Given the description of an element on the screen output the (x, y) to click on. 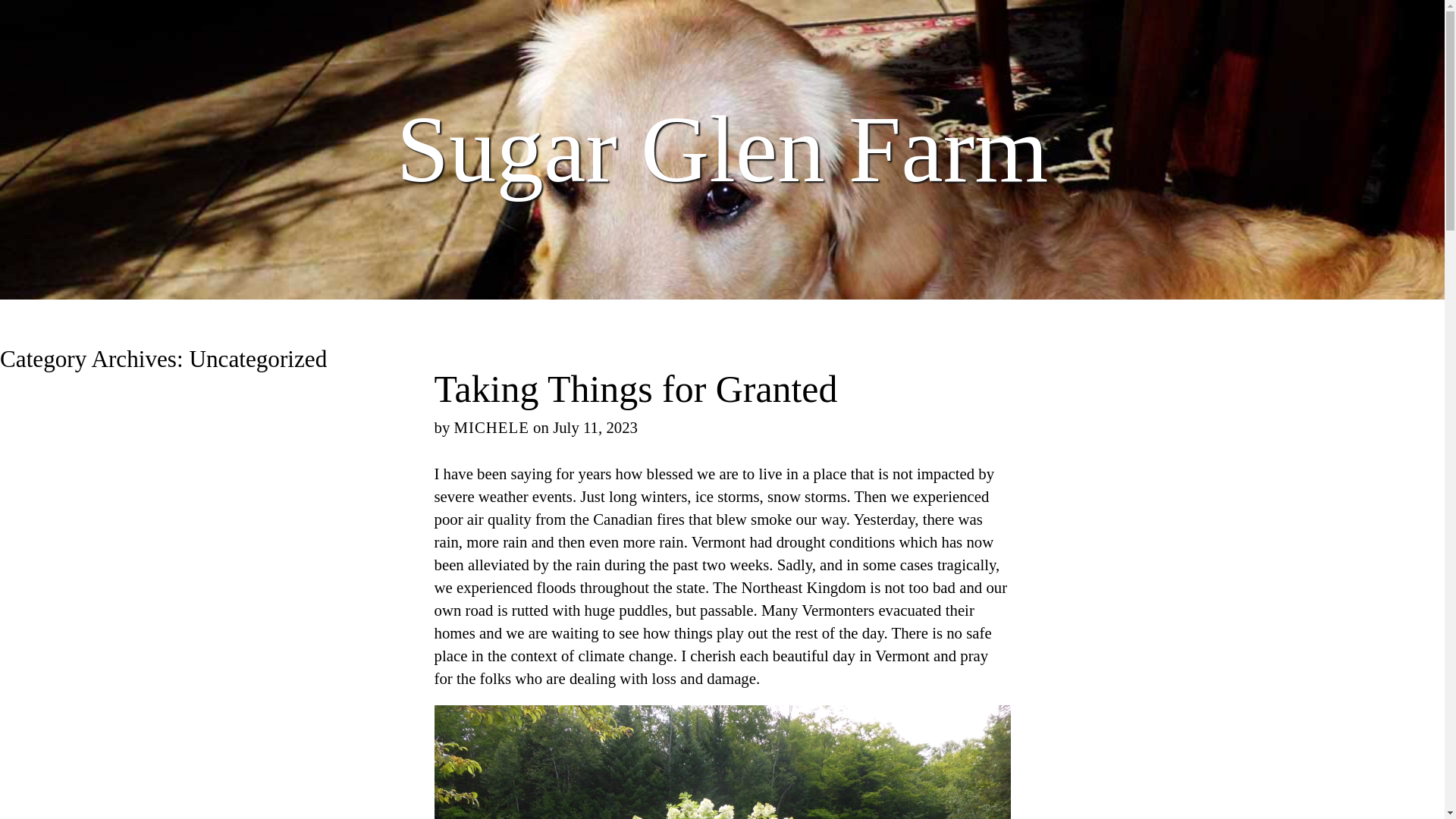
Sugar Glen Farm (722, 149)
ABOUT (1406, 16)
SUGAR GLEN FARM (722, 18)
Taking Things for Granted (635, 389)
